Given the description of an element on the screen output the (x, y) to click on. 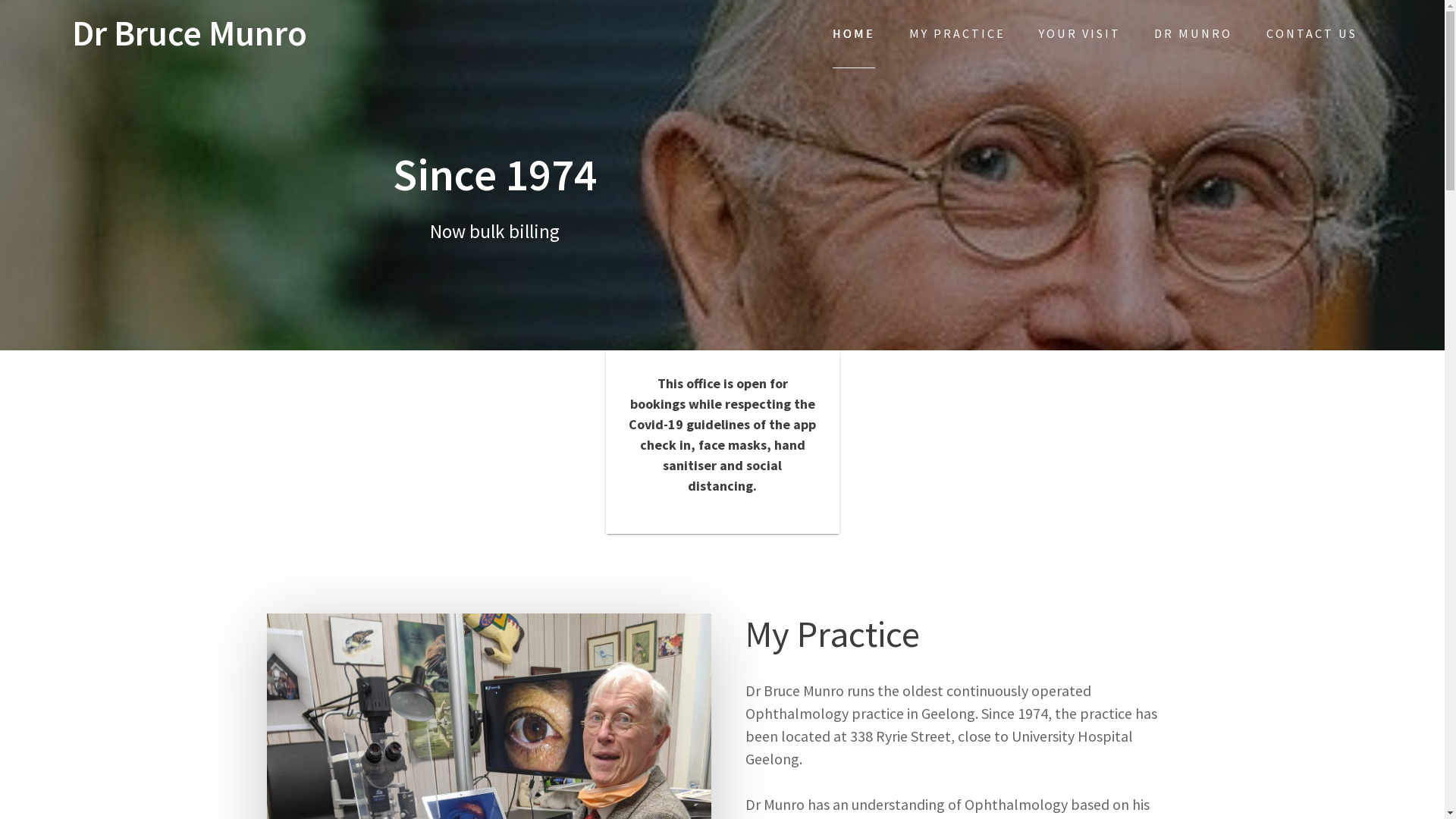
MY PRACTICE Element type: text (957, 33)
HOME Element type: text (853, 34)
Skip to content Element type: text (0, 0)
CONTACT US Element type: text (1311, 33)
YOUR VISIT Element type: text (1079, 33)
Dr Bruce Munro Element type: text (189, 33)
DR MUNRO Element type: text (1193, 33)
